Given the description of an element on the screen output the (x, y) to click on. 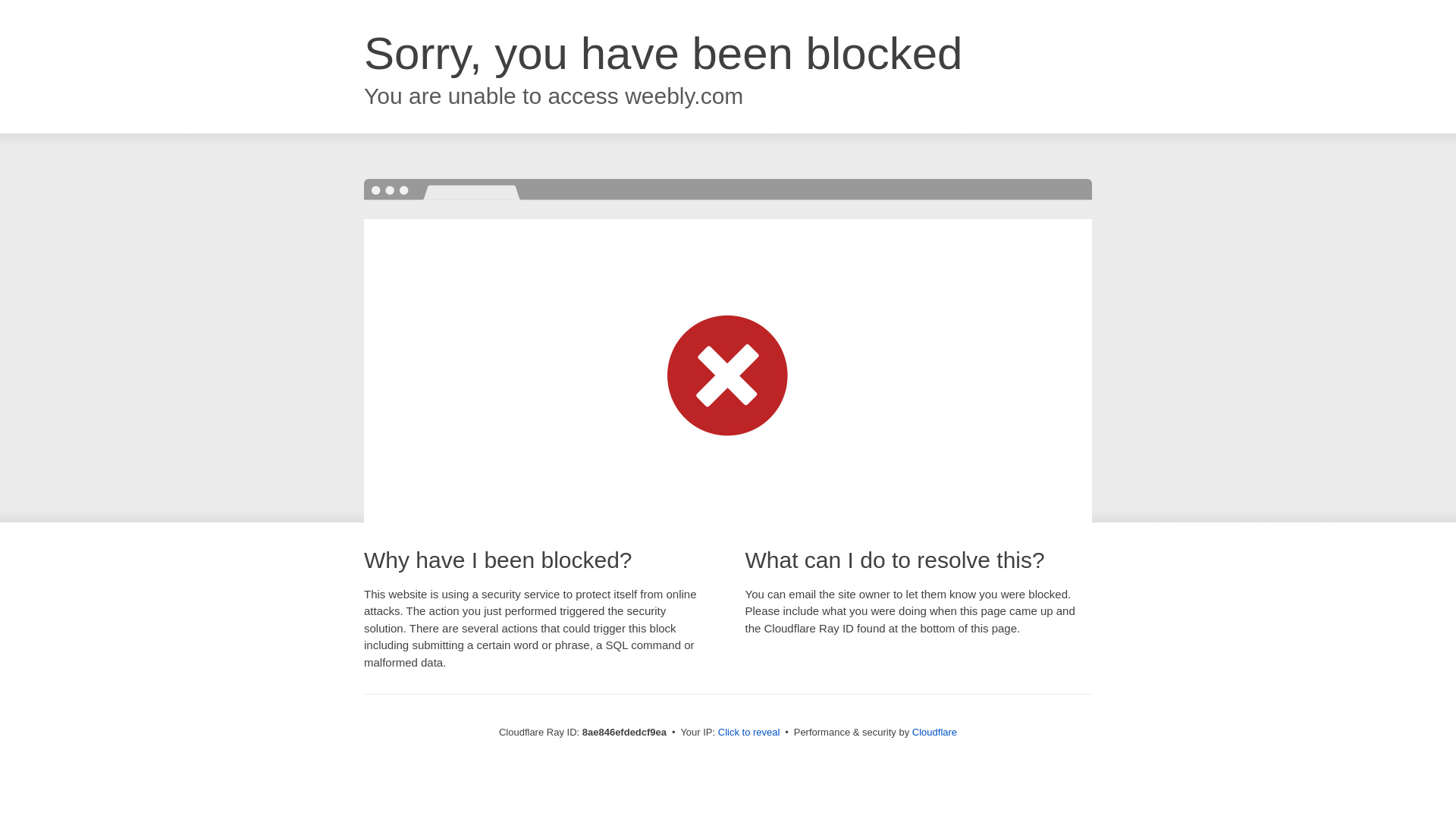
Cloudflare (934, 731)
Click to reveal (748, 732)
